Given the description of an element on the screen output the (x, y) to click on. 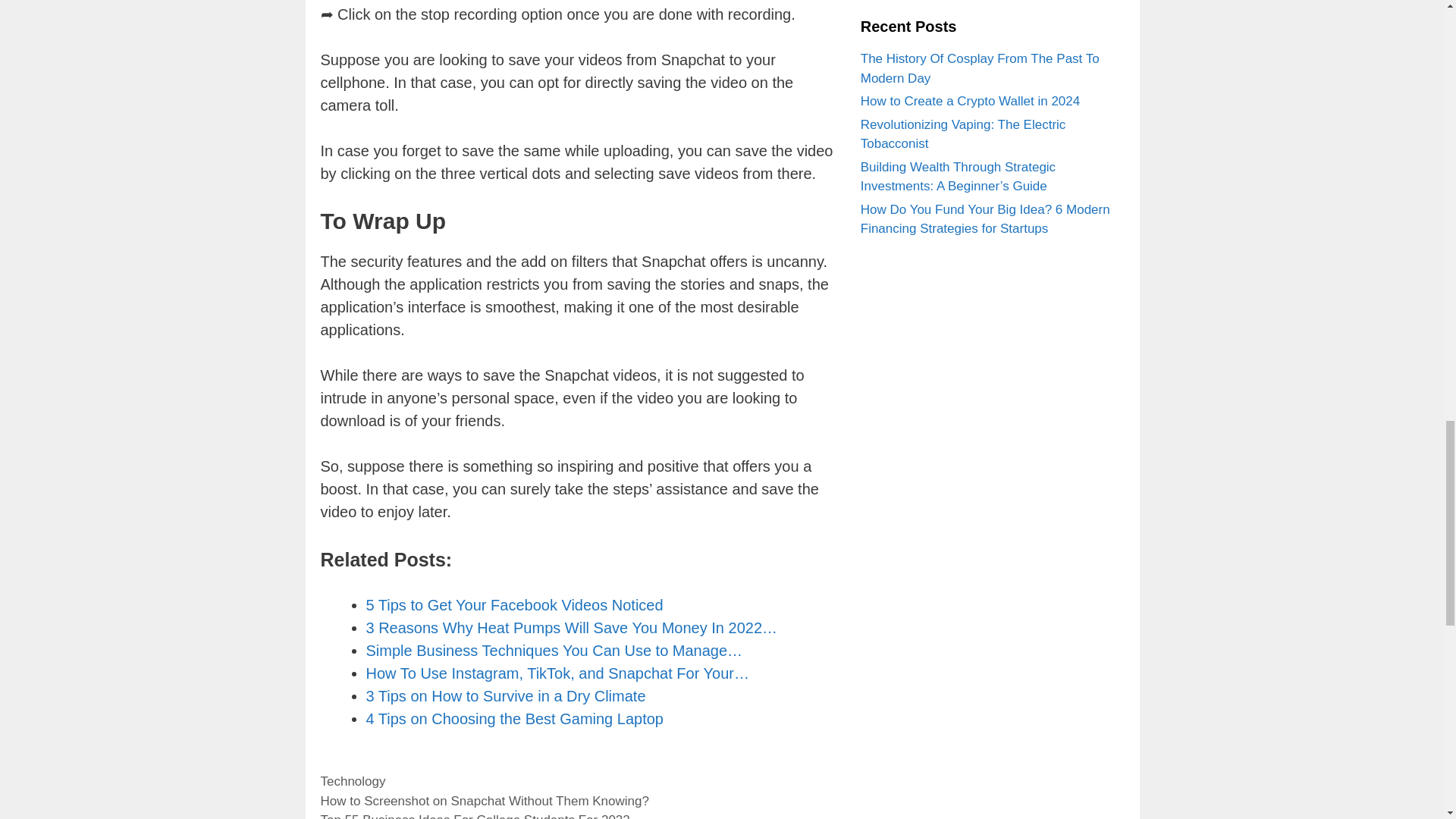
3 Tips on How to Survive in a Dry Climate (505, 695)
Technology (352, 780)
Top 55 Business Ideas For College Students For 2022 (474, 816)
5 Tips to Get Your Facebook Videos Noticed (513, 605)
4 Tips on Choosing the Best Gaming Laptop (513, 718)
